Given the description of an element on the screen output the (x, y) to click on. 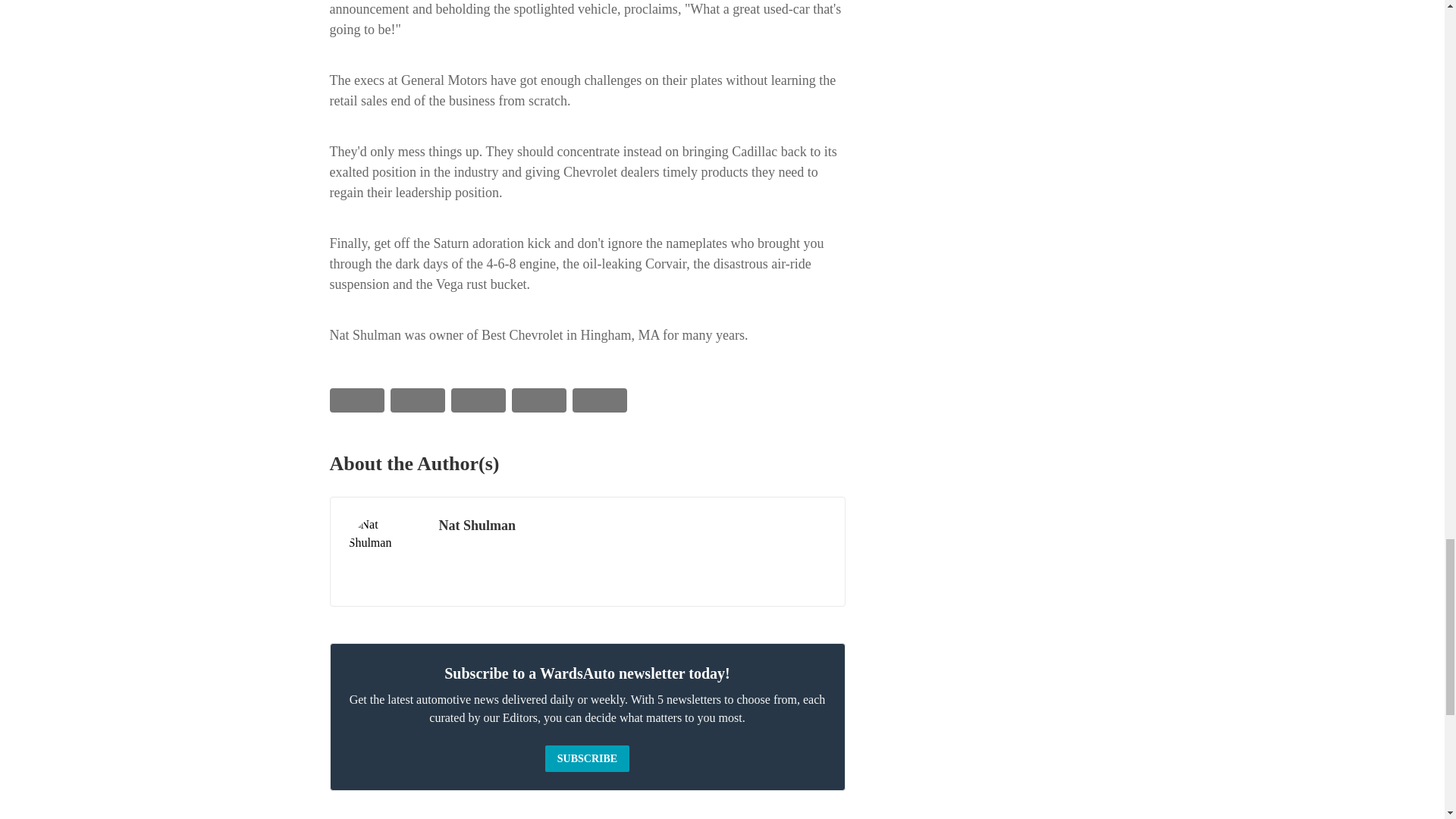
Nat Shulman (384, 551)
